Given the description of an element on the screen output the (x, y) to click on. 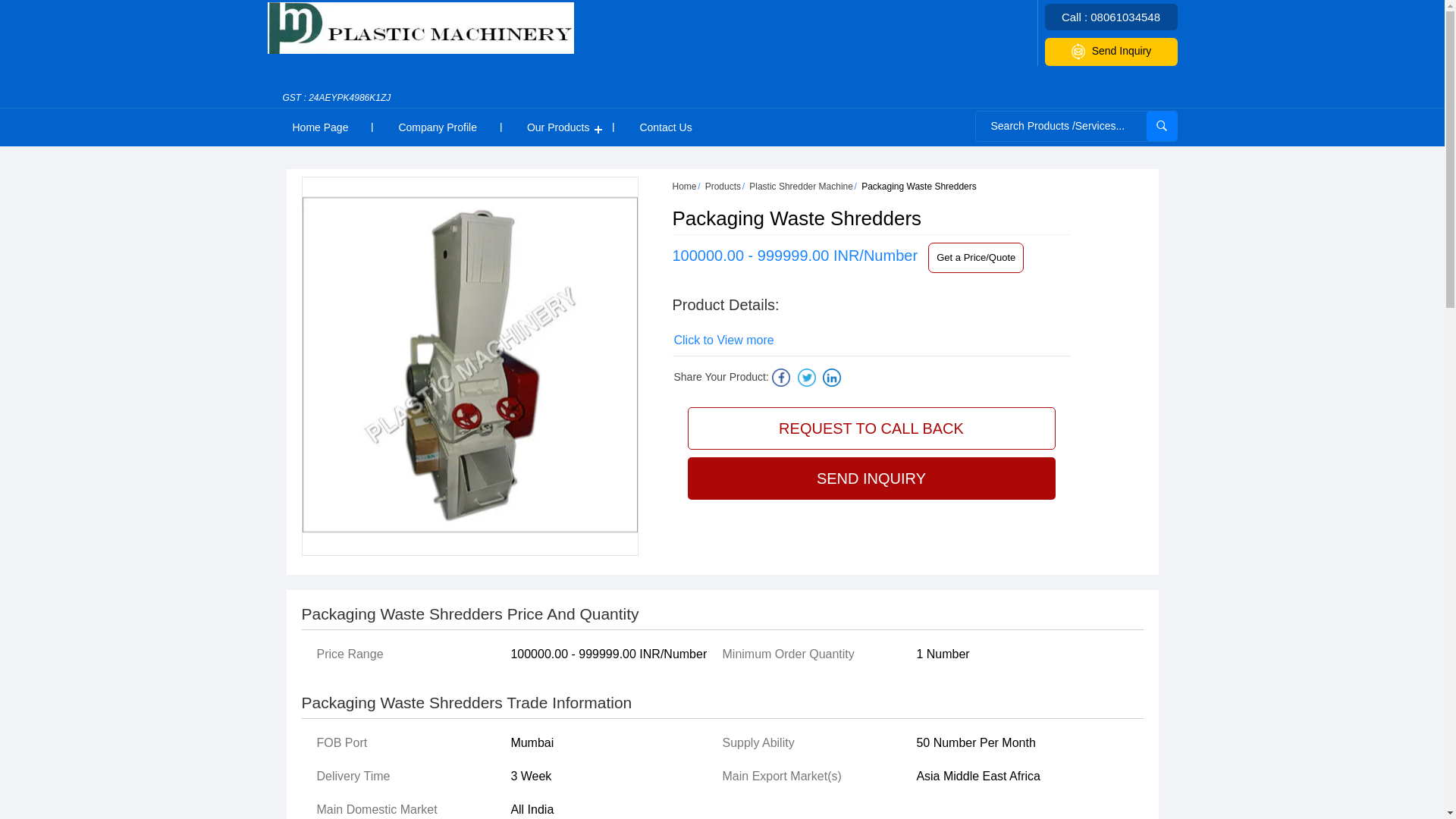
Click to View more (722, 340)
Send Inquiry (1111, 51)
submit (1161, 125)
Our Products (558, 127)
Plastic Shredder Machine (801, 185)
Home (683, 185)
REQUEST TO CALL BACK (870, 428)
GST : 24AEYPK4986K1ZJ (336, 104)
Products (722, 185)
SEND INQUIRY (870, 478)
